Given the description of an element on the screen output the (x, y) to click on. 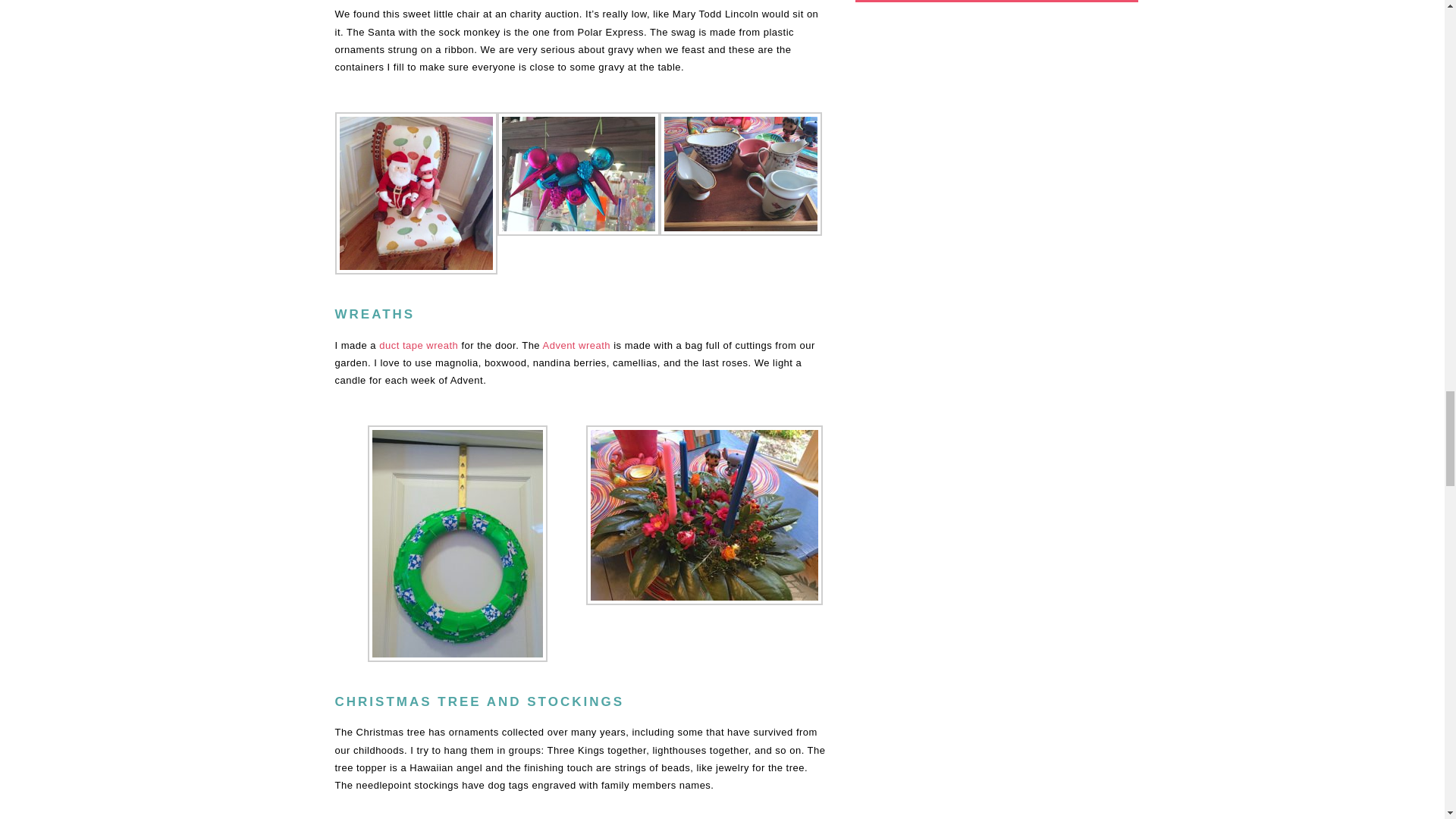
duct tape wreath (418, 345)
Advent wreath (577, 345)
